Given the description of an element on the screen output the (x, y) to click on. 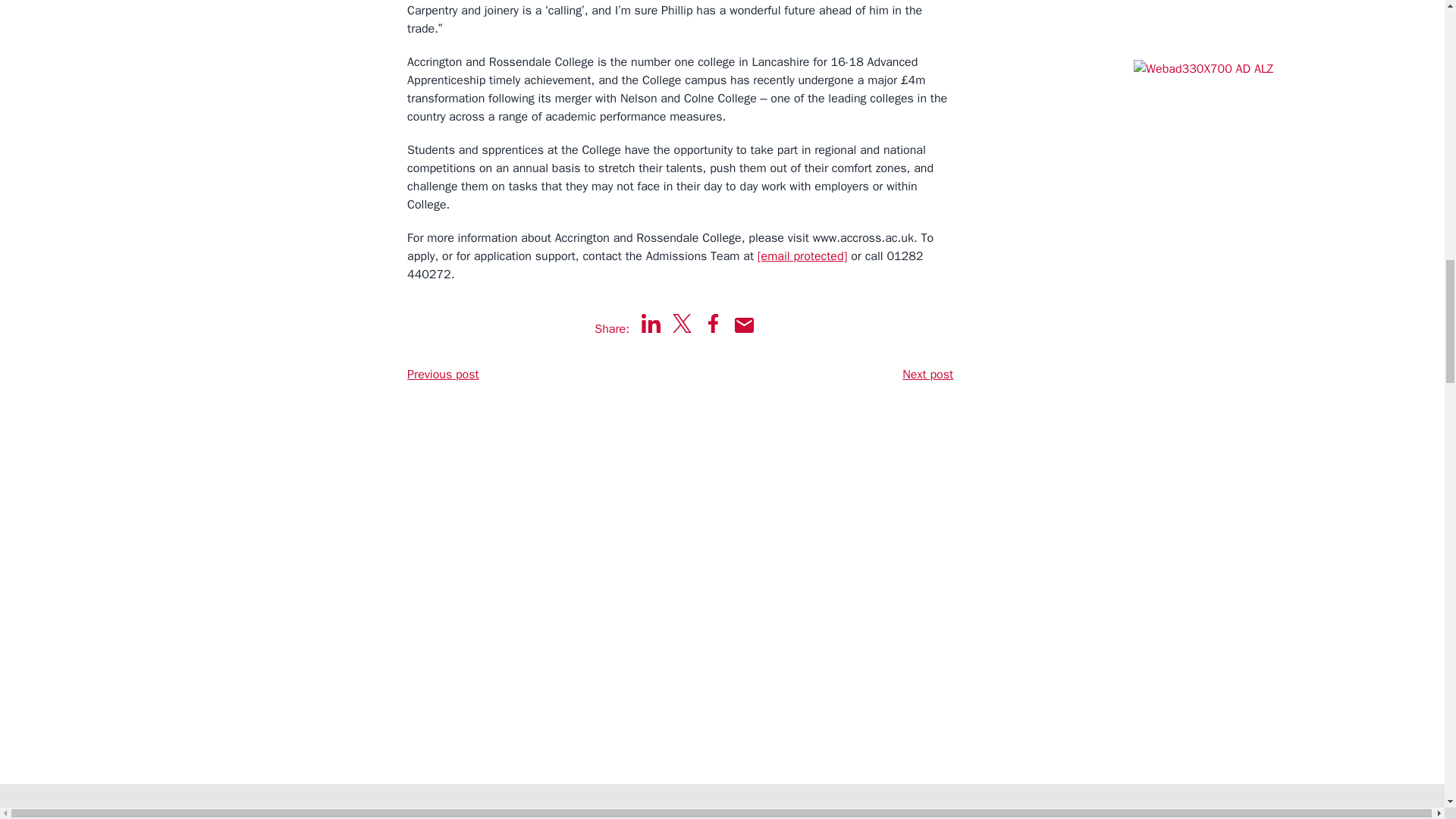
Share via Twitter (681, 322)
Share via LinkedIn (651, 322)
Share by Email (744, 324)
Share via Facebook (712, 322)
